Given the description of an element on the screen output the (x, y) to click on. 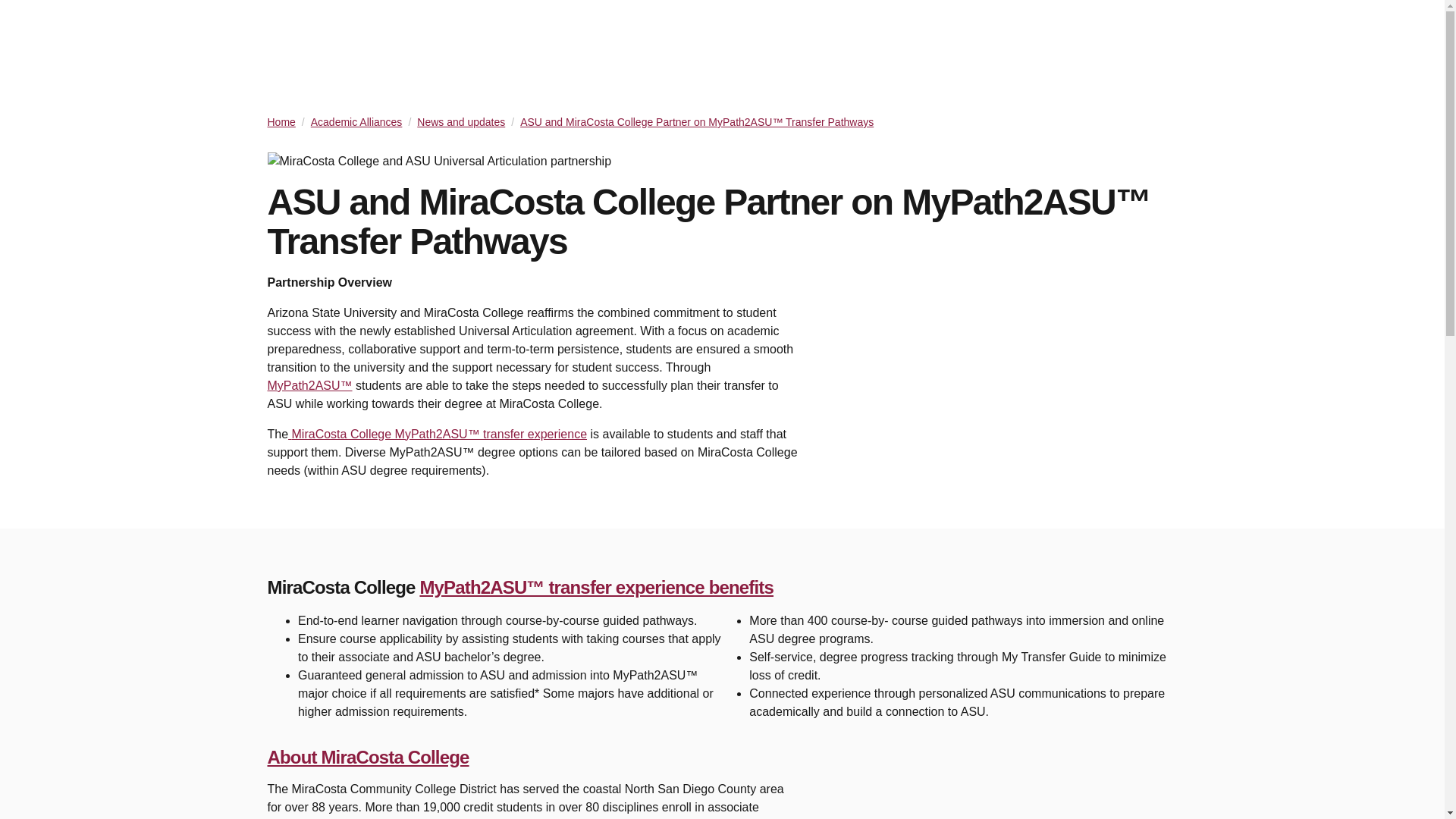
News and updates (460, 121)
About MiraCosta College (367, 756)
Home (280, 121)
Academic Alliances (357, 121)
